Given the description of an element on the screen output the (x, y) to click on. 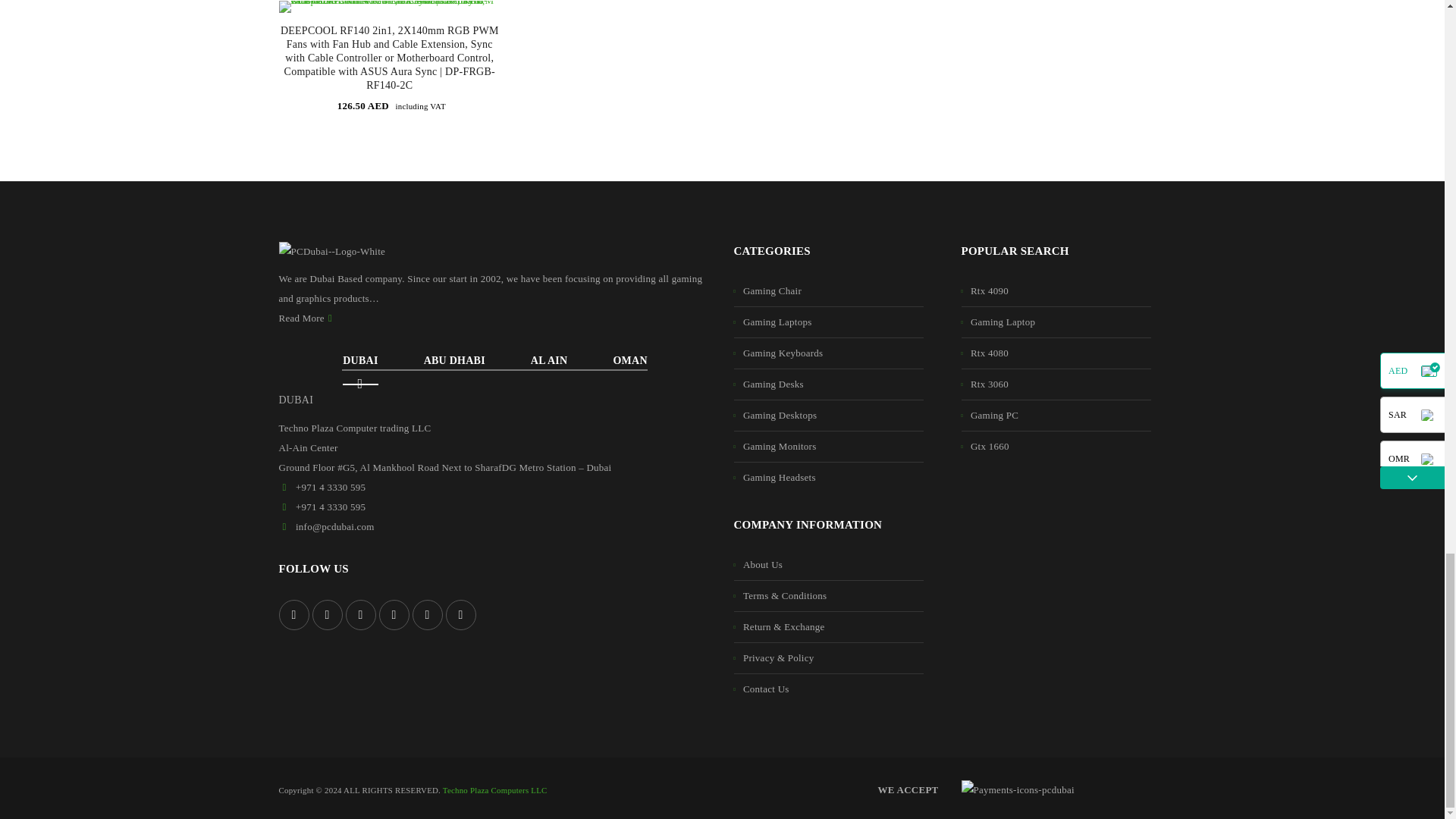
PCDubai--Logo-White (332, 251)
